Given the description of an element on the screen output the (x, y) to click on. 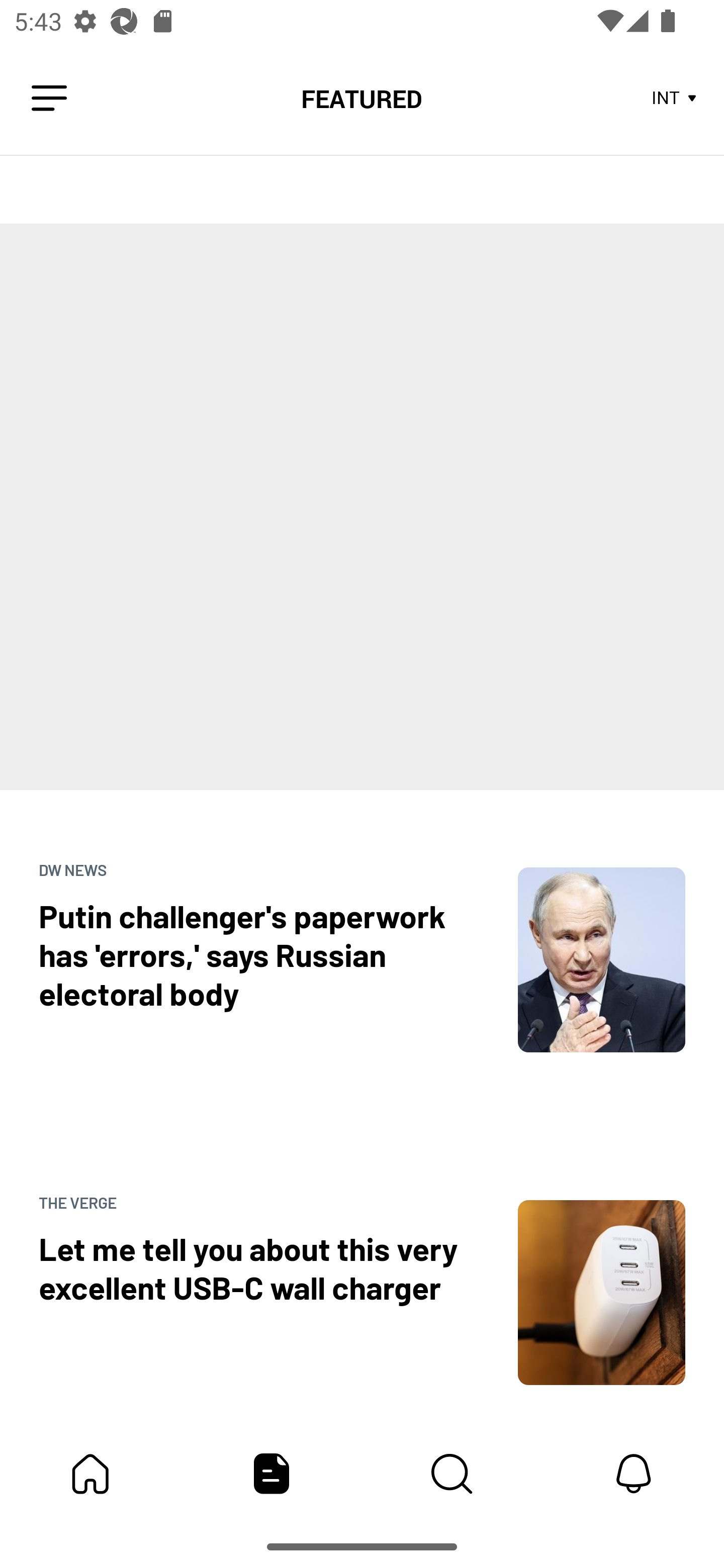
INT Store Area (674, 98)
Leading Icon (49, 98)
My Bundle (90, 1473)
Content Store (452, 1473)
Notifications (633, 1473)
